Given the description of an element on the screen output the (x, y) to click on. 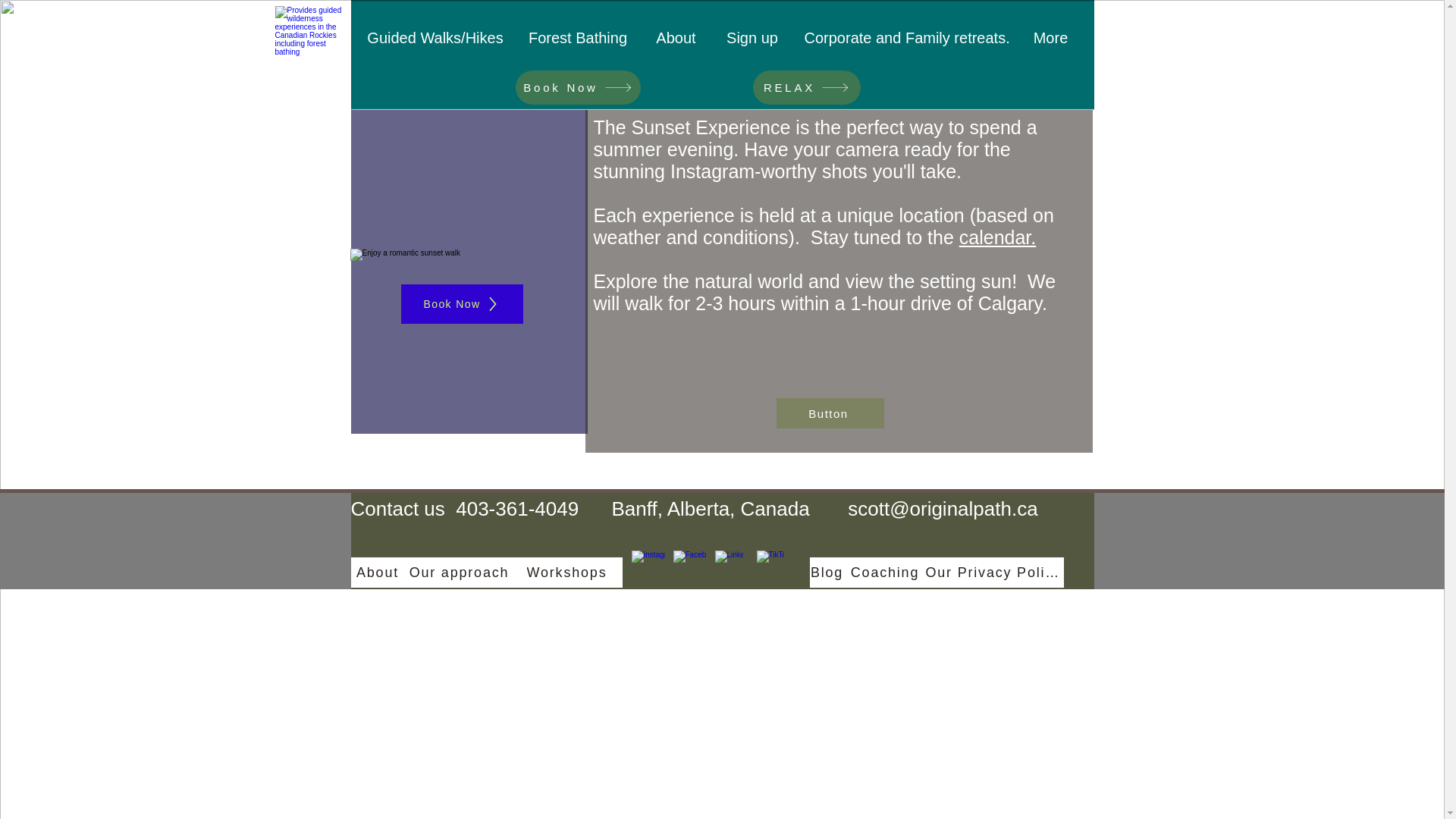
Button (829, 413)
Coaching (886, 572)
Book Now (461, 303)
RELAX (806, 87)
Our Privacy Policy (993, 572)
About (378, 572)
Workshops (567, 572)
Corporate and Family retreats. (904, 37)
Sign up (751, 37)
About (675, 37)
